Given the description of an element on the screen output the (x, y) to click on. 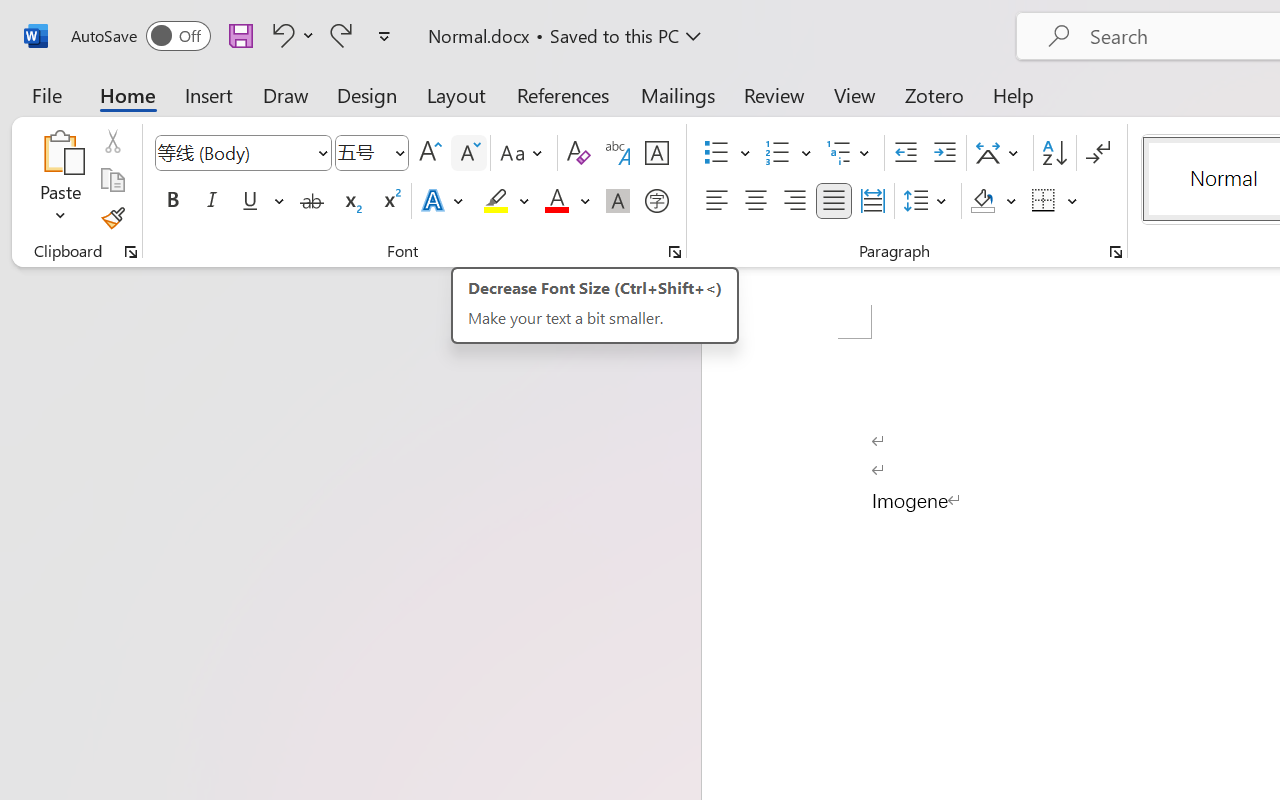
Character Border (656, 153)
Phonetic Guide... (618, 153)
Strikethrough (312, 201)
Office Clipboard... (131, 252)
Shading RGB(0, 0, 0) (982, 201)
Text Highlight Color (506, 201)
